Given the description of an element on the screen output the (x, y) to click on. 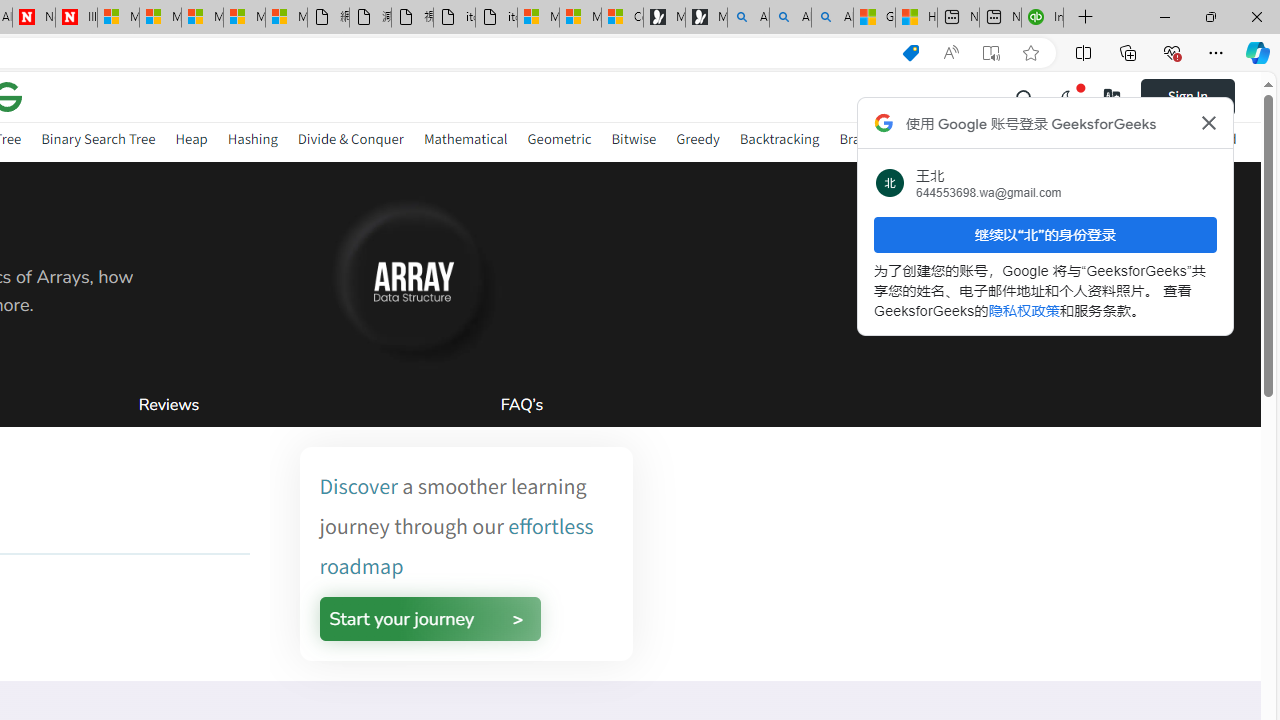
Branch and Bound (895, 138)
Mathematical (465, 142)
itconcepthk.com/projector_solutions.mp4 (496, 17)
Hashing (252, 142)
Randomized (1197, 138)
toggle theme (1067, 96)
Class: header-main__left-list-item gcse-search_li p-relative (1025, 96)
Heap (191, 142)
Matrix (991, 142)
Randomized (1197, 142)
Geometric (559, 142)
